Given the description of an element on the screen output the (x, y) to click on. 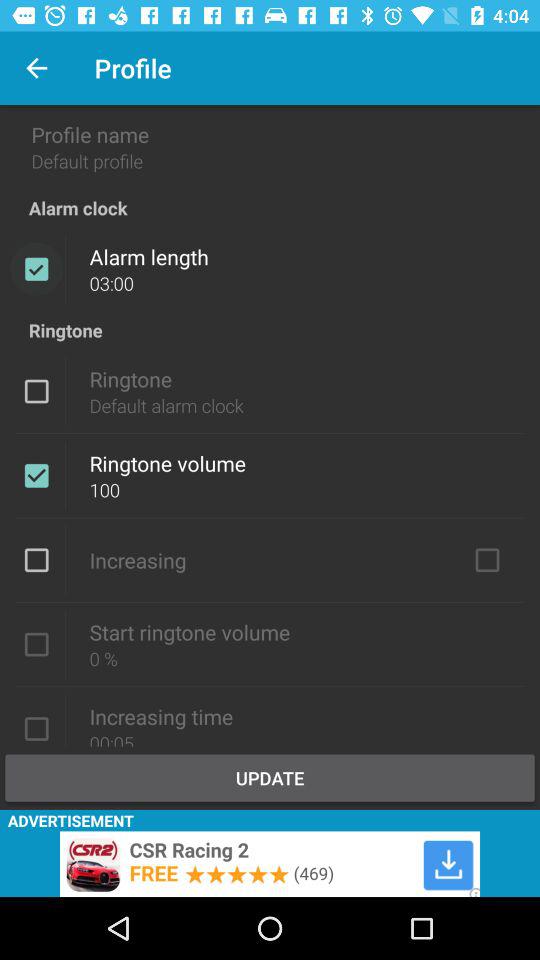
open advertisement (270, 864)
